Given the description of an element on the screen output the (x, y) to click on. 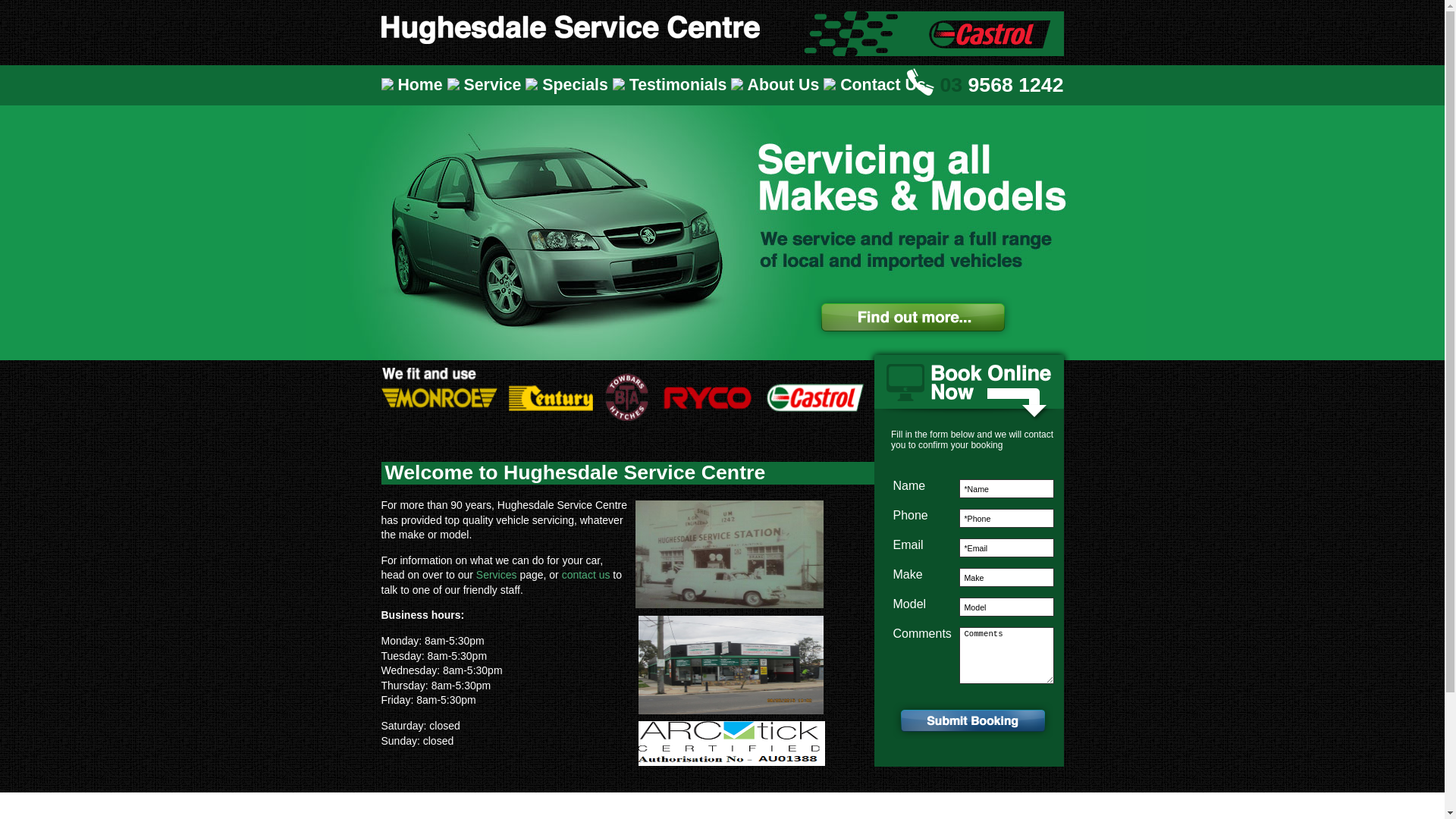
 Testimonials  Element type: text (671, 85)
 Contact Us  Element type: text (876, 85)
contact us Element type: text (585, 574)
 Home  Element type: text (413, 85)
Services Element type: text (496, 574)
 Service  Element type: text (486, 85)
 Specials  Element type: text (568, 85)
 About Us  Element type: text (777, 85)
